Given the description of an element on the screen output the (x, y) to click on. 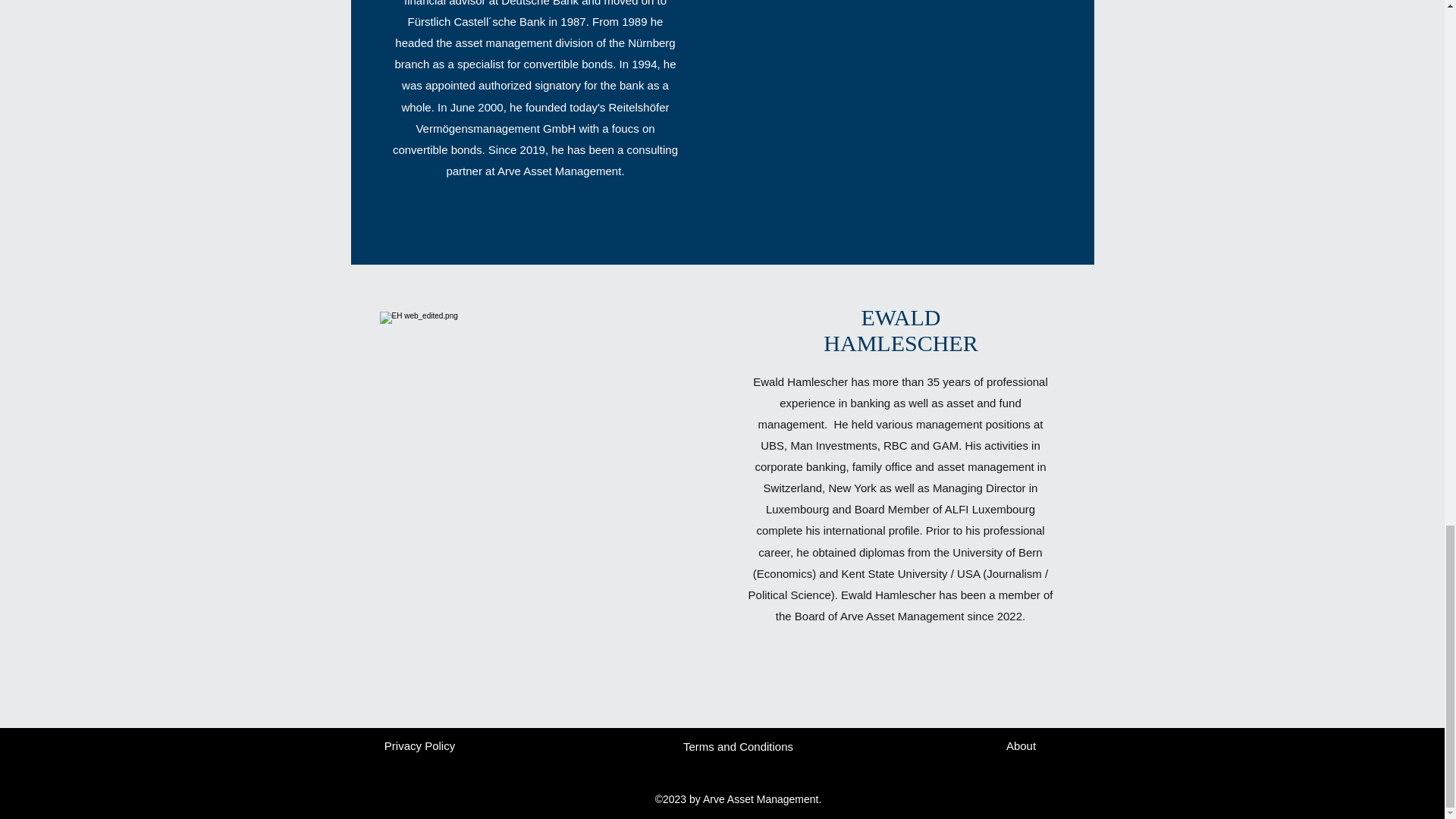
About (1021, 746)
Privacy Policy (419, 746)
Terms and Conditions (737, 746)
